Given the description of an element on the screen output the (x, y) to click on. 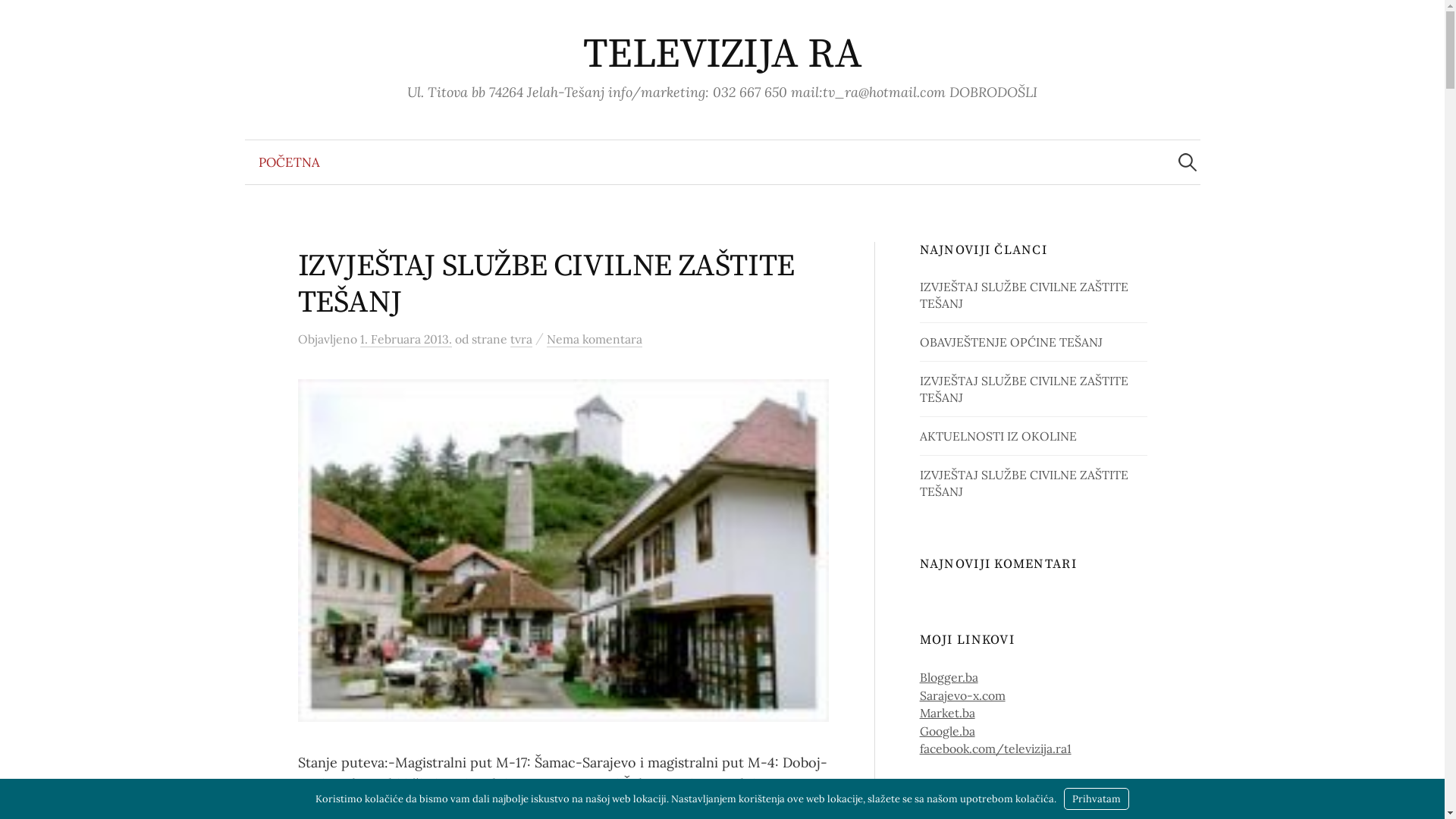
facebook.com/televizija.ra1 Element type: text (995, 748)
tvra Element type: text (520, 339)
TELEVIZIJA RA Element type: text (722, 54)
Pretraga Element type: text (18, 18)
Google.ba Element type: text (947, 730)
Blogger.ba Element type: text (948, 676)
Sarajevo-x.com Element type: text (962, 694)
1. Februara 2013. Element type: text (405, 339)
AKTUELNOSTI IZ OKOLINE Element type: text (997, 435)
Prihvatam Element type: text (1096, 798)
Market.ba Element type: text (947, 712)
